Given the description of an element on the screen output the (x, y) to click on. 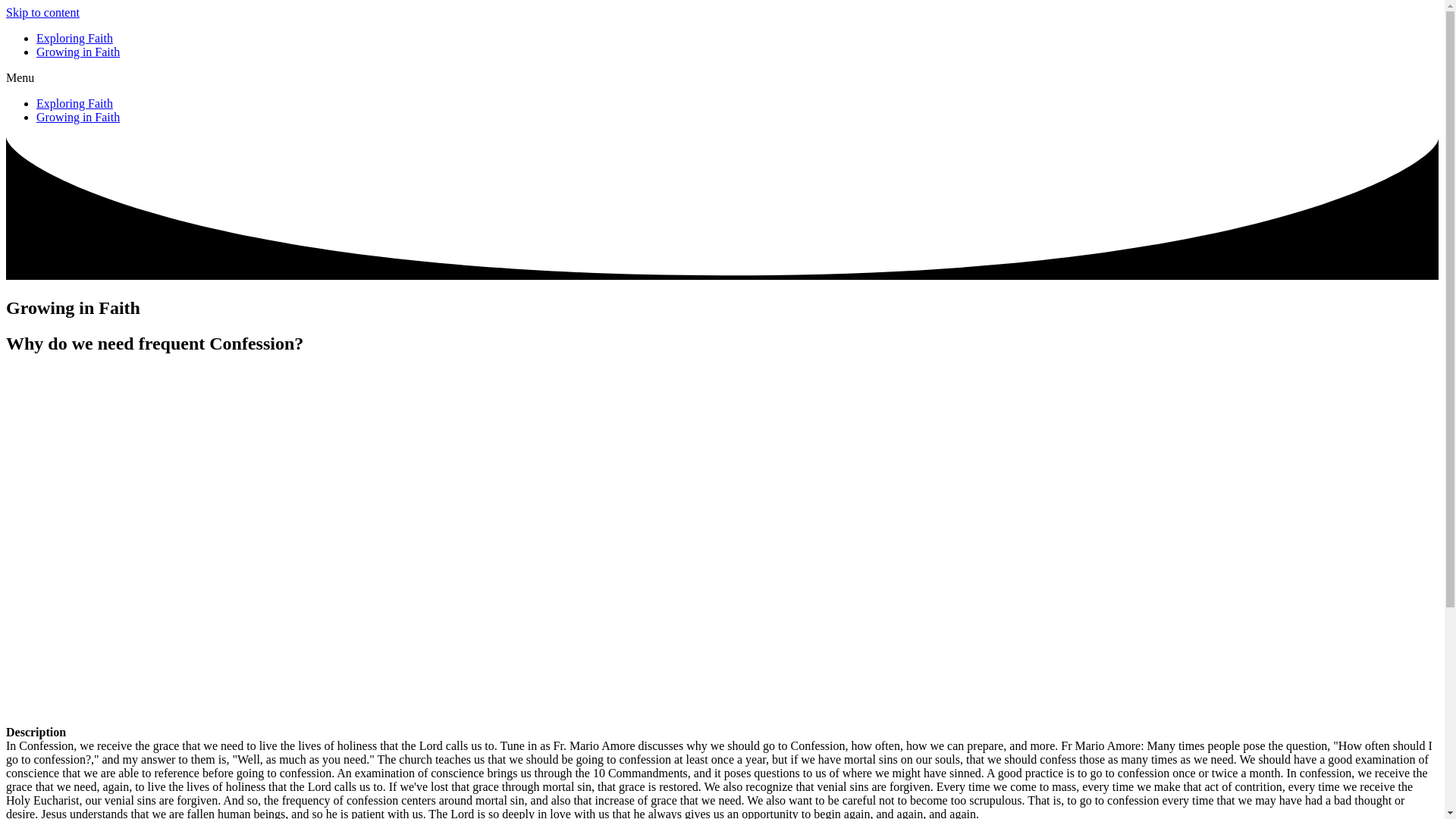
Growing in Faith (77, 116)
Growing in Faith (77, 51)
Skip to content (42, 11)
Exploring Faith (74, 103)
Exploring Faith (74, 38)
